Given the description of an element on the screen output the (x, y) to click on. 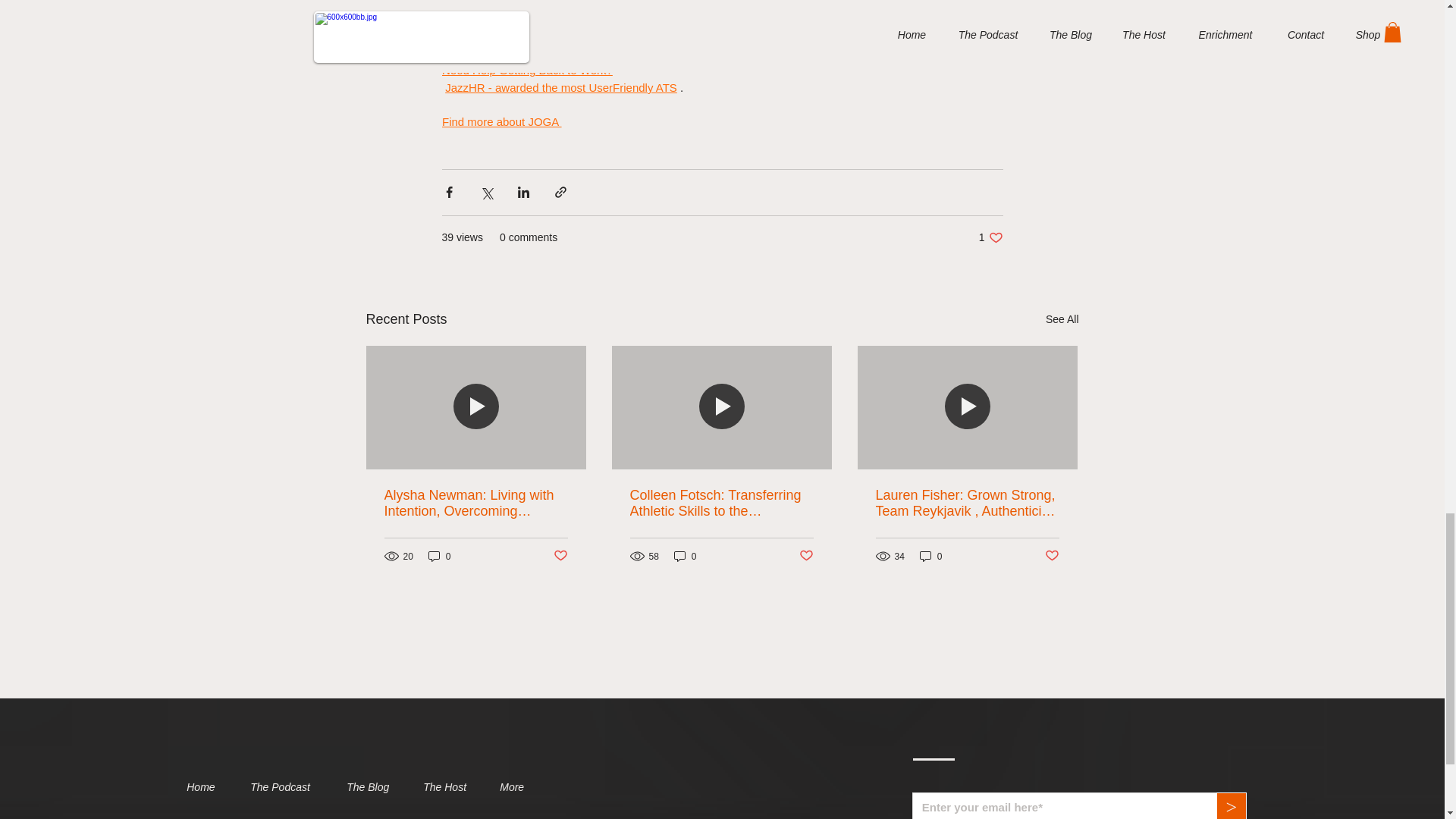
Post not marked as liked (560, 555)
Post not marked as liked (1052, 555)
Find more about JOGA  (500, 121)
0 (439, 555)
JazzHR - awarded the most UserFriendly ATS (561, 87)
www.bigideabigmoves.com (513, 52)
Post not marked as liked (806, 555)
0 (685, 555)
Need Help Getting Back to Work? (526, 70)
Home (206, 786)
See All (1061, 319)
